Given the description of an element on the screen output the (x, y) to click on. 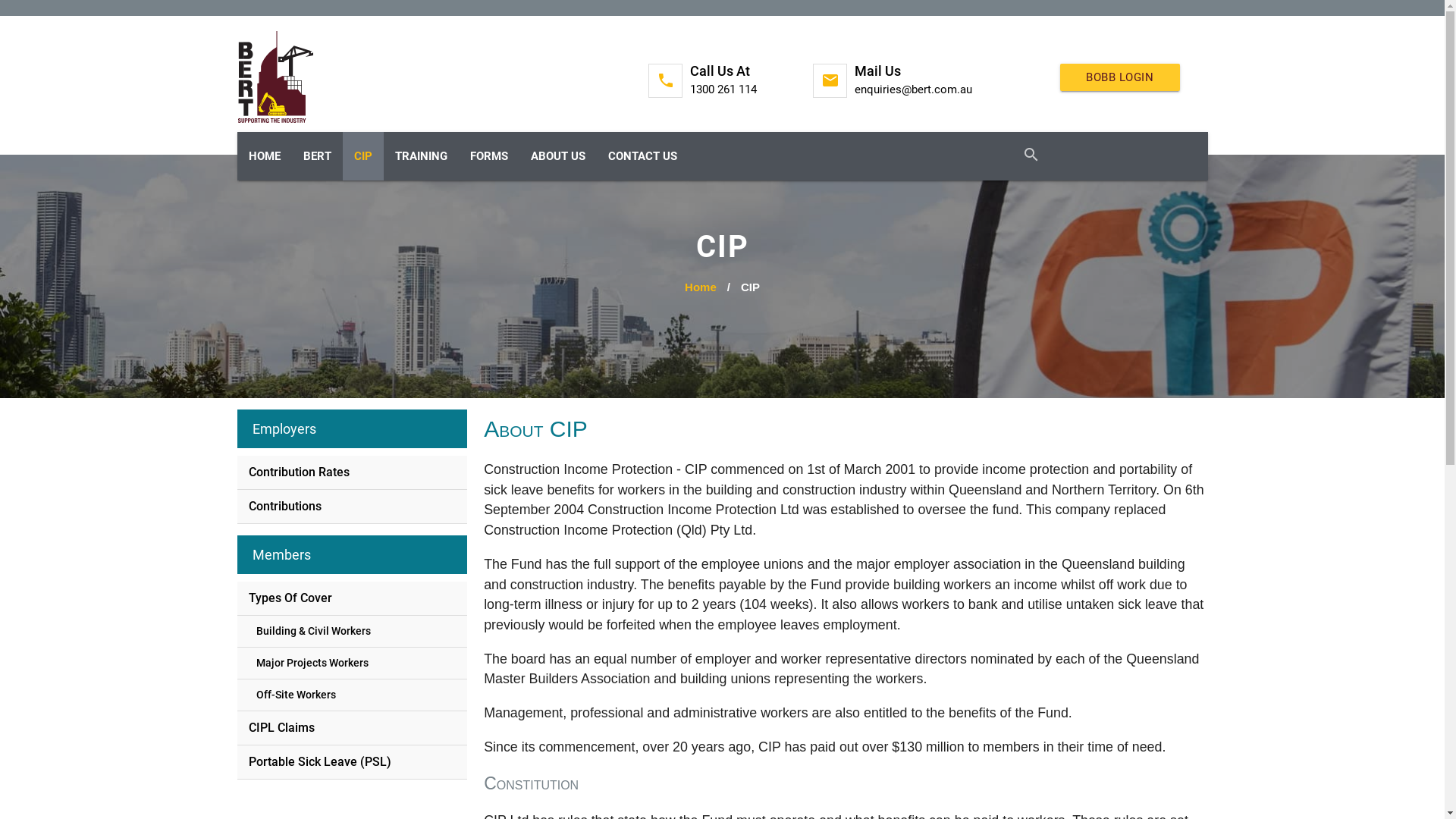
CONTACT US Element type: text (641, 155)
Types Of Cover Element type: text (351, 598)
Employers Element type: text (283, 428)
CIP Element type: text (362, 155)
TRAINING Element type: text (420, 155)
enquiries@bert.com.au Element type: text (913, 88)
HOME Element type: text (263, 155)
Off-Site Workers Element type: text (355, 694)
ABOUT US Element type: text (557, 155)
Building & Civil Workers Element type: text (355, 630)
FORMS Element type: text (488, 155)
CIPL Claims Element type: text (351, 727)
Home Element type: text (700, 286)
BERT Element type: text (316, 155)
Major Projects Workers Element type: text (355, 662)
Contribution Rates Element type: text (351, 472)
Members Element type: text (280, 554)
Portable Sick Leave (PSL) Element type: text (351, 761)
Contributions Element type: text (351, 506)
BOBB LOGIN Element type: text (1119, 77)
1300 261 114 Element type: text (723, 88)
